Given the description of an element on the screen output the (x, y) to click on. 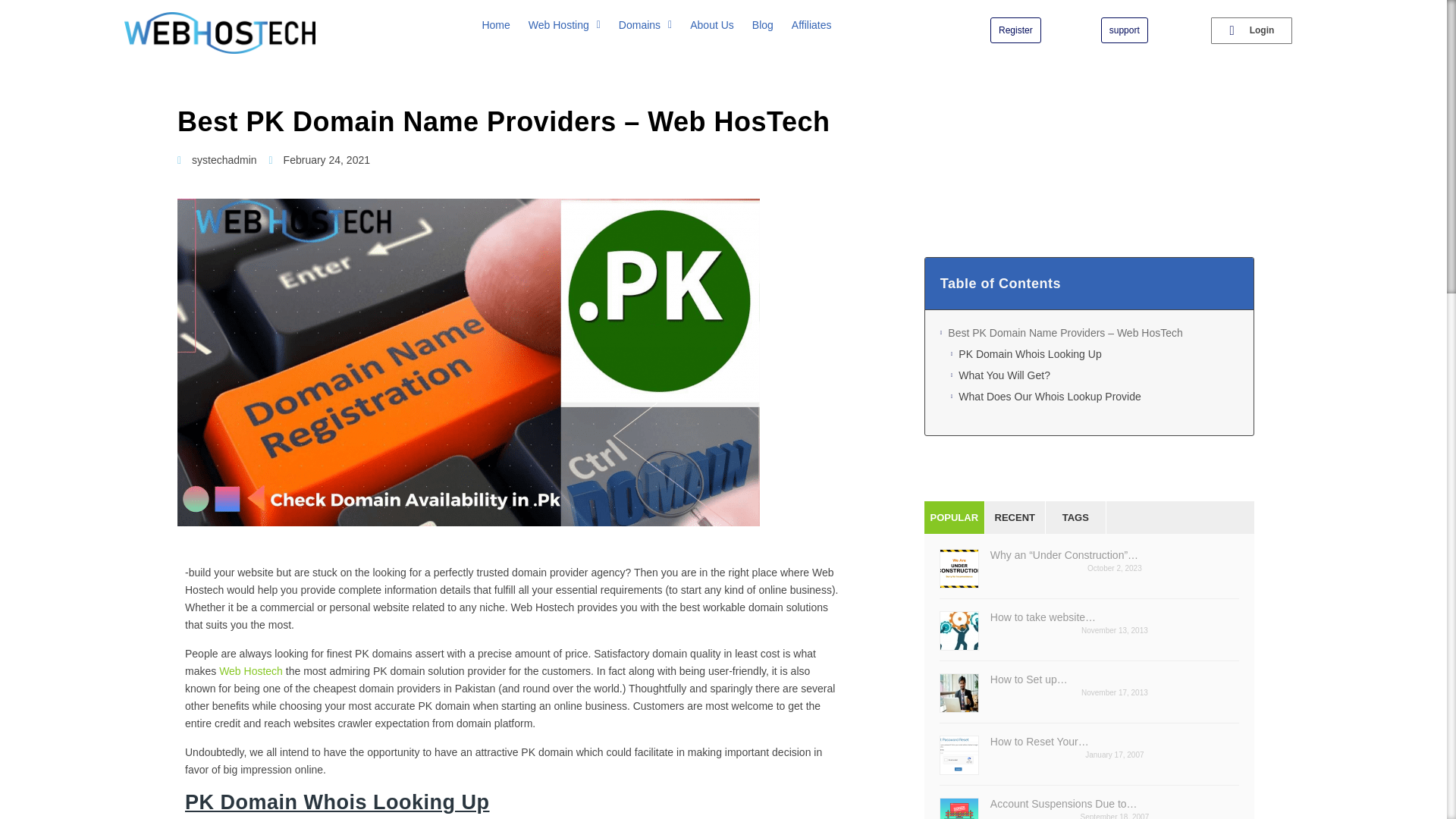
Register (1015, 30)
Home (494, 24)
Web Hosting (564, 24)
How to Reset Your Webhostech Account Password (1089, 741)
How to take website backup from cpanel manually (1089, 617)
Blog (762, 24)
About Us (711, 24)
Domains (645, 24)
Login (1251, 30)
How to Set up Email Accounts in Microsoft Outlook (1089, 679)
Account Suspensions Due to Spamming (1089, 803)
Affiliates (812, 24)
support (1124, 30)
systechadmin (217, 160)
